Given the description of an element on the screen output the (x, y) to click on. 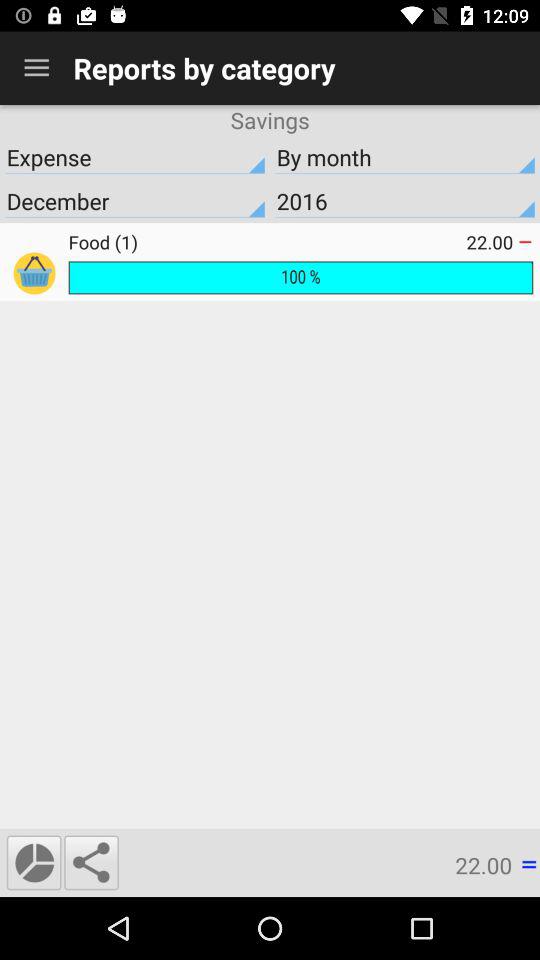
turn off item next to by month (135, 157)
